Given the description of an element on the screen output the (x, y) to click on. 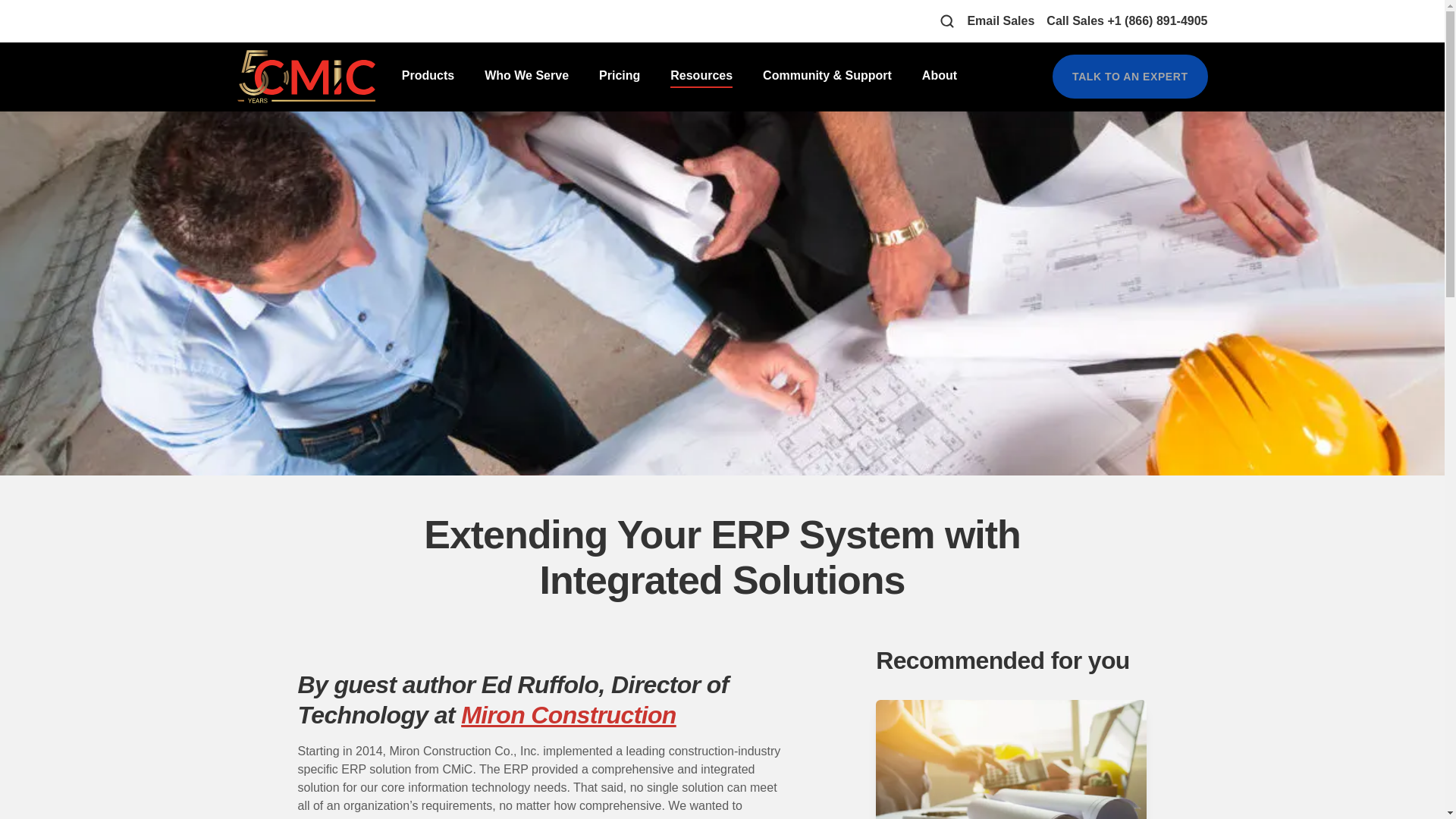
Products (427, 64)
Pricing (619, 64)
Resources (700, 64)
Email Sales (999, 20)
Who We Serve (526, 64)
